Given the description of an element on the screen output the (x, y) to click on. 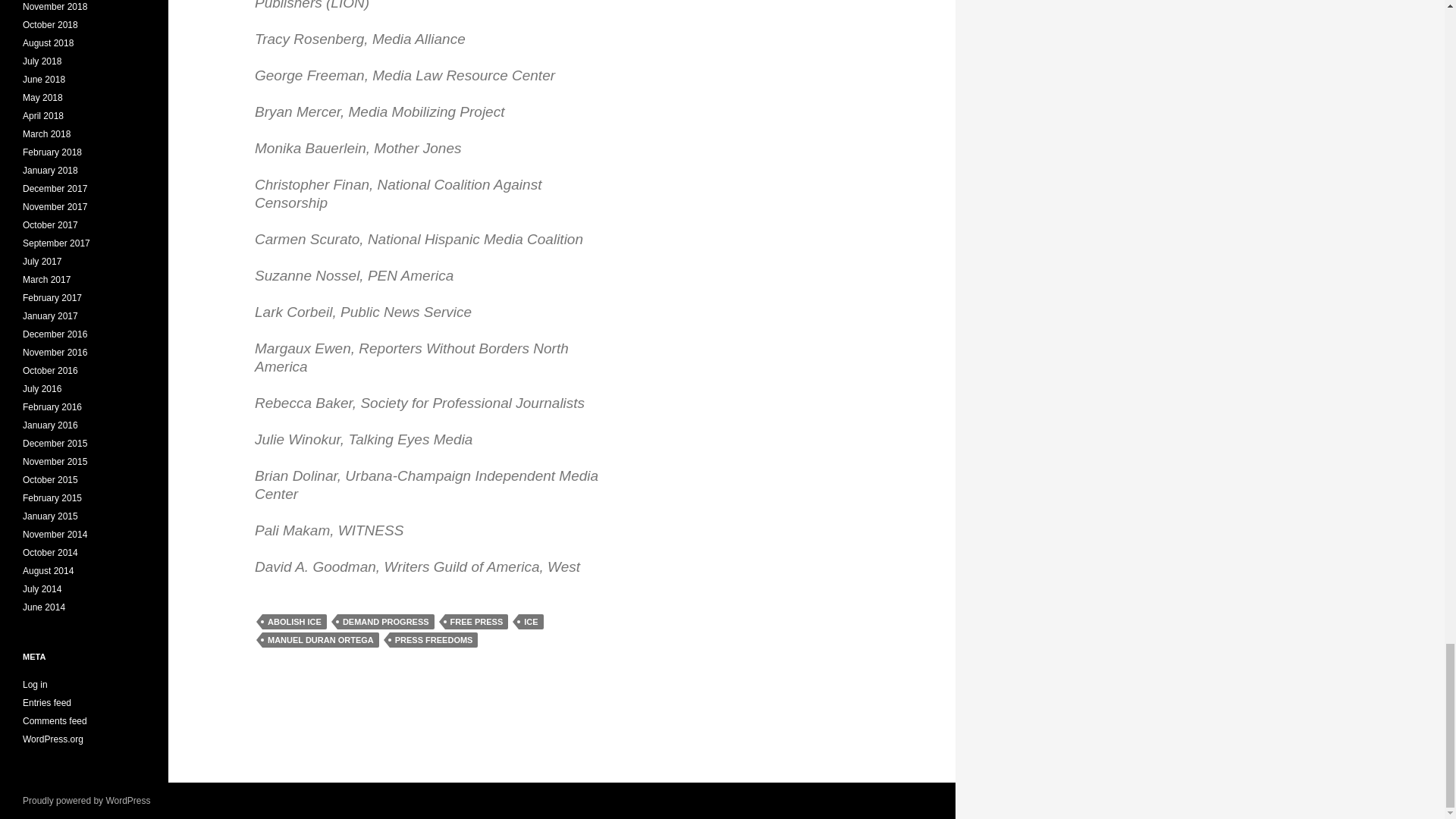
ABOLISH ICE (294, 621)
